Given the description of an element on the screen output the (x, y) to click on. 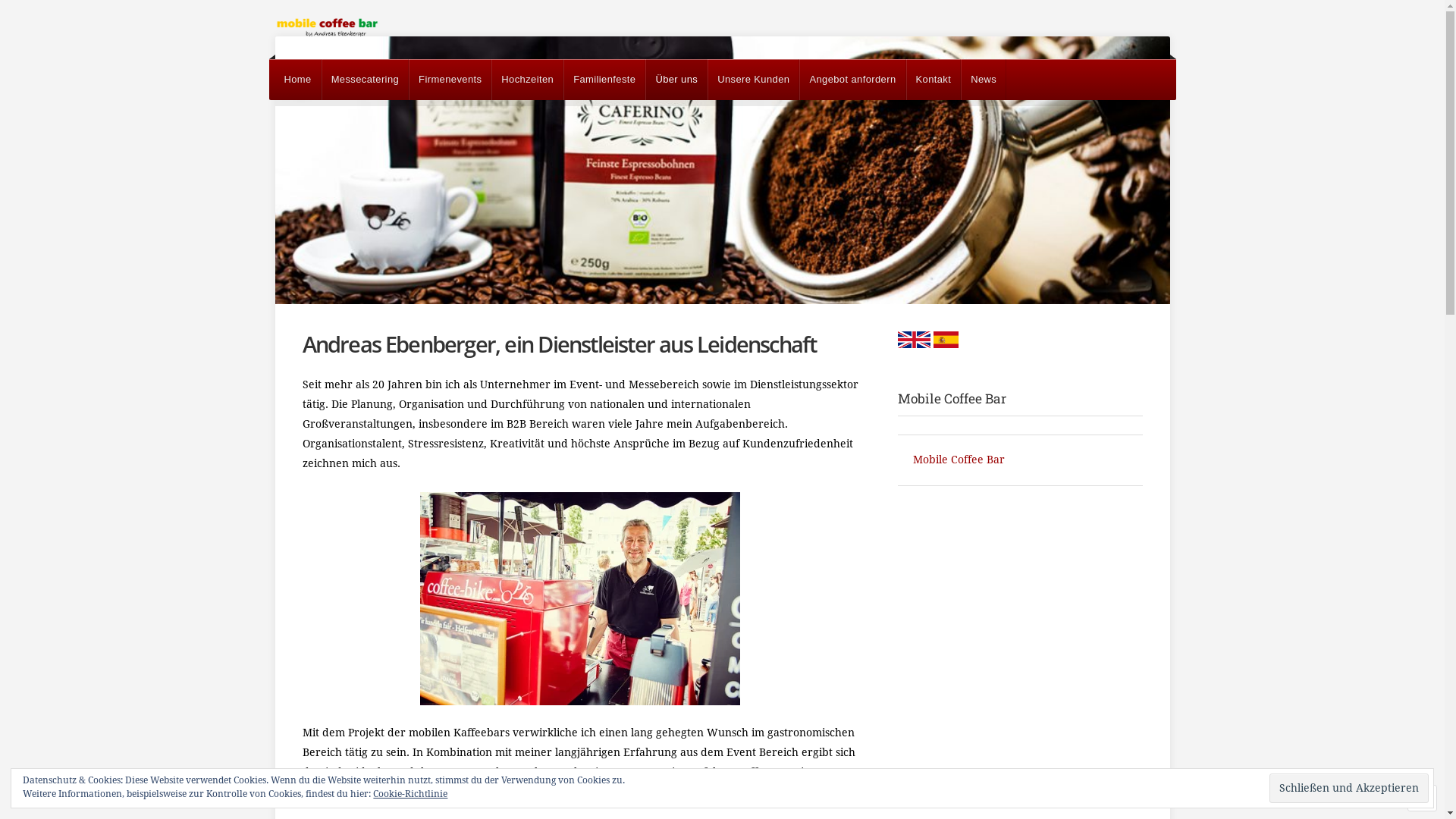
Unsere Kunden Element type: text (753, 79)
Mobile Coffee Bar Element type: text (958, 459)
Angebot anfordern Element type: text (852, 79)
Messecatering Element type: text (364, 79)
Home Element type: text (297, 79)
Mobile Coffee Bar Element type: text (951, 398)
Firmenevents Element type: text (449, 79)
Cookie-Richtlinie Element type: text (410, 793)
Hochzeiten Element type: text (527, 79)
Familienfeste Element type: text (604, 79)
News Element type: text (983, 79)
Kontakt Element type: text (933, 79)
